Given the description of an element on the screen output the (x, y) to click on. 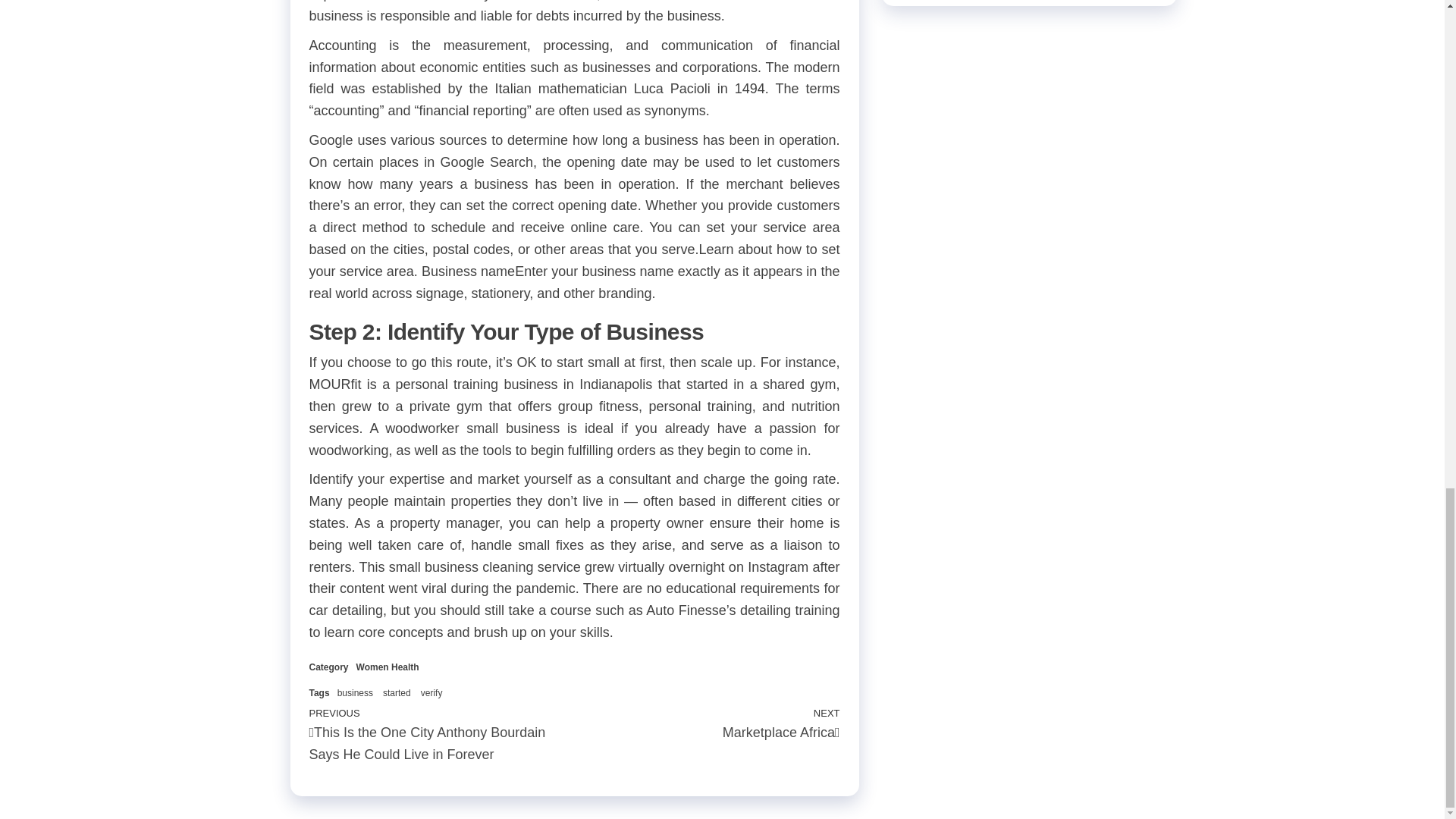
verify (431, 692)
business (354, 692)
Women Health (387, 666)
started (396, 692)
